Given the description of an element on the screen output the (x, y) to click on. 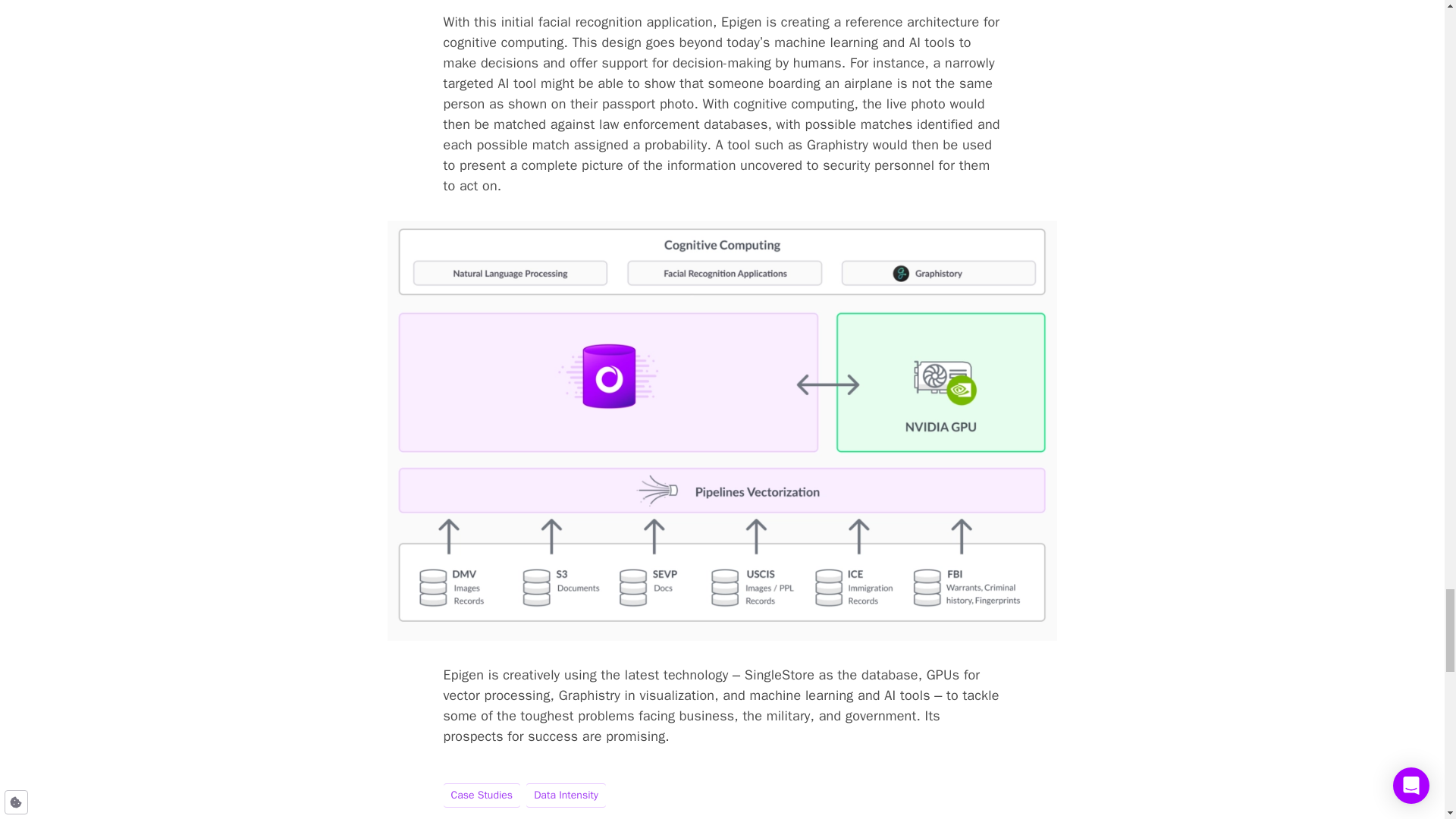
Case Studies (480, 794)
Data Intensity (565, 794)
